Given the description of an element on the screen output the (x, y) to click on. 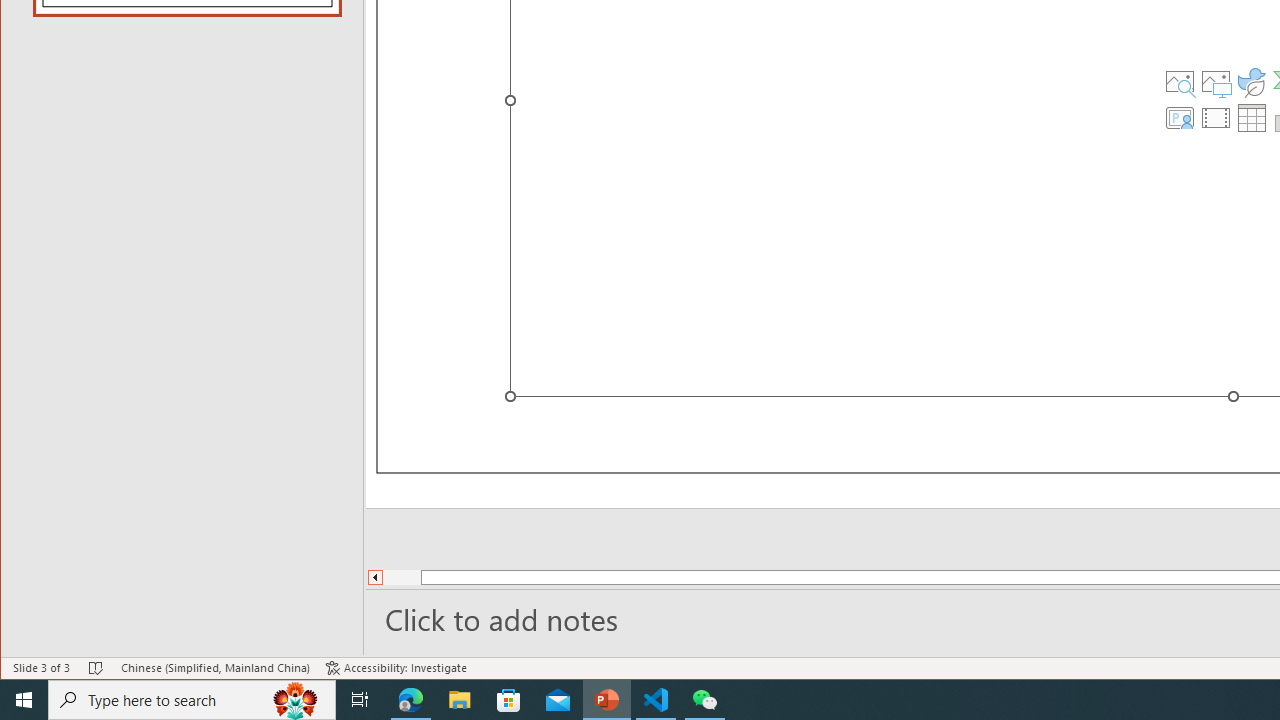
Insert an Icon (1252, 81)
Insert Video (1215, 117)
Stock Images (1179, 81)
Insert Table (1252, 117)
